Given the description of an element on the screen output the (x, y) to click on. 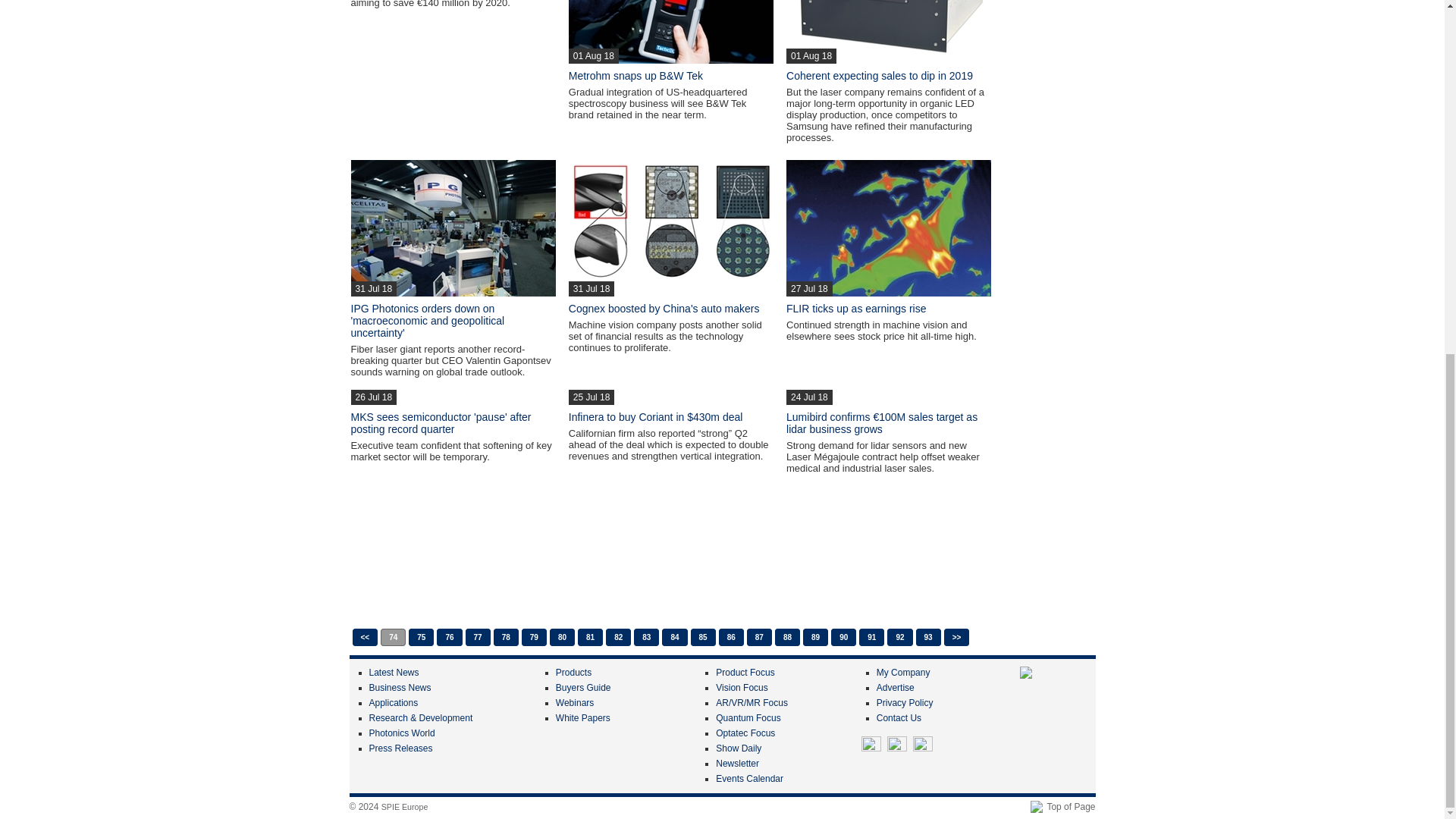
Twitter (870, 745)
RSS Feeds (922, 745)
LinkedIn (896, 745)
